Given the description of an element on the screen output the (x, y) to click on. 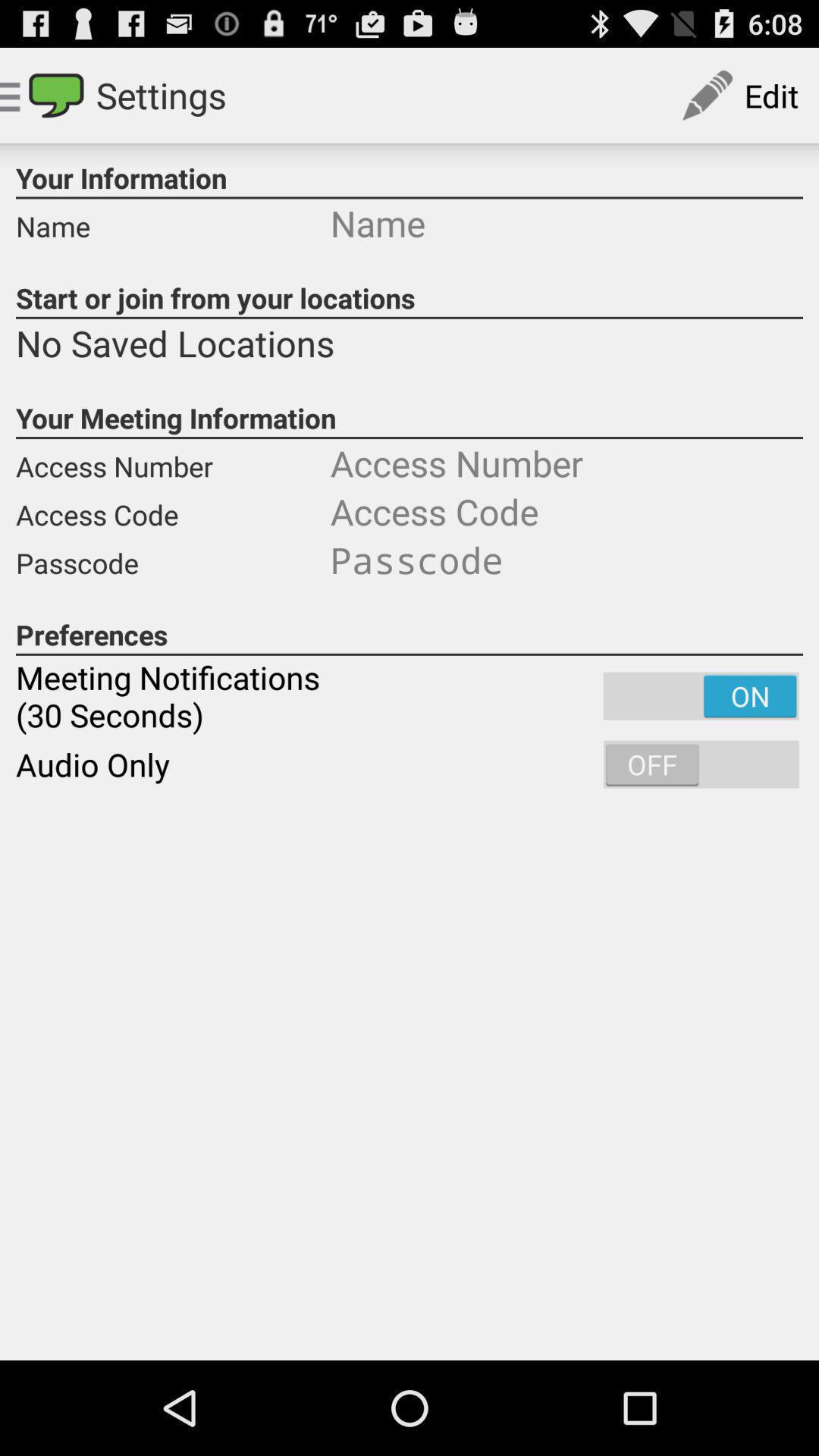
select icon above audio only icon (409, 695)
